Given the description of an element on the screen output the (x, y) to click on. 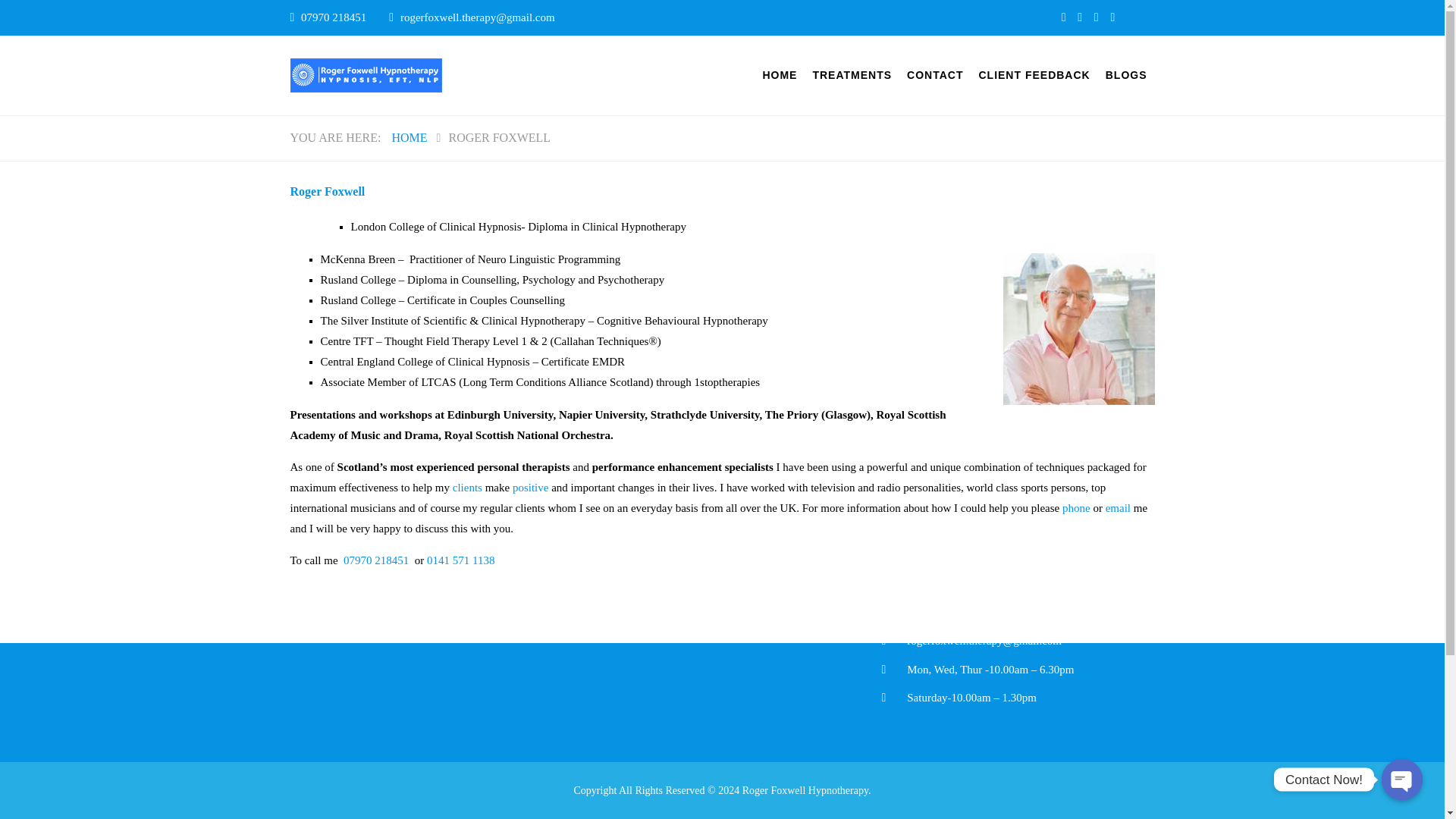
HOME (778, 75)
07970 218451 (335, 17)
TREATMENTS (851, 75)
